Given the description of an element on the screen output the (x, y) to click on. 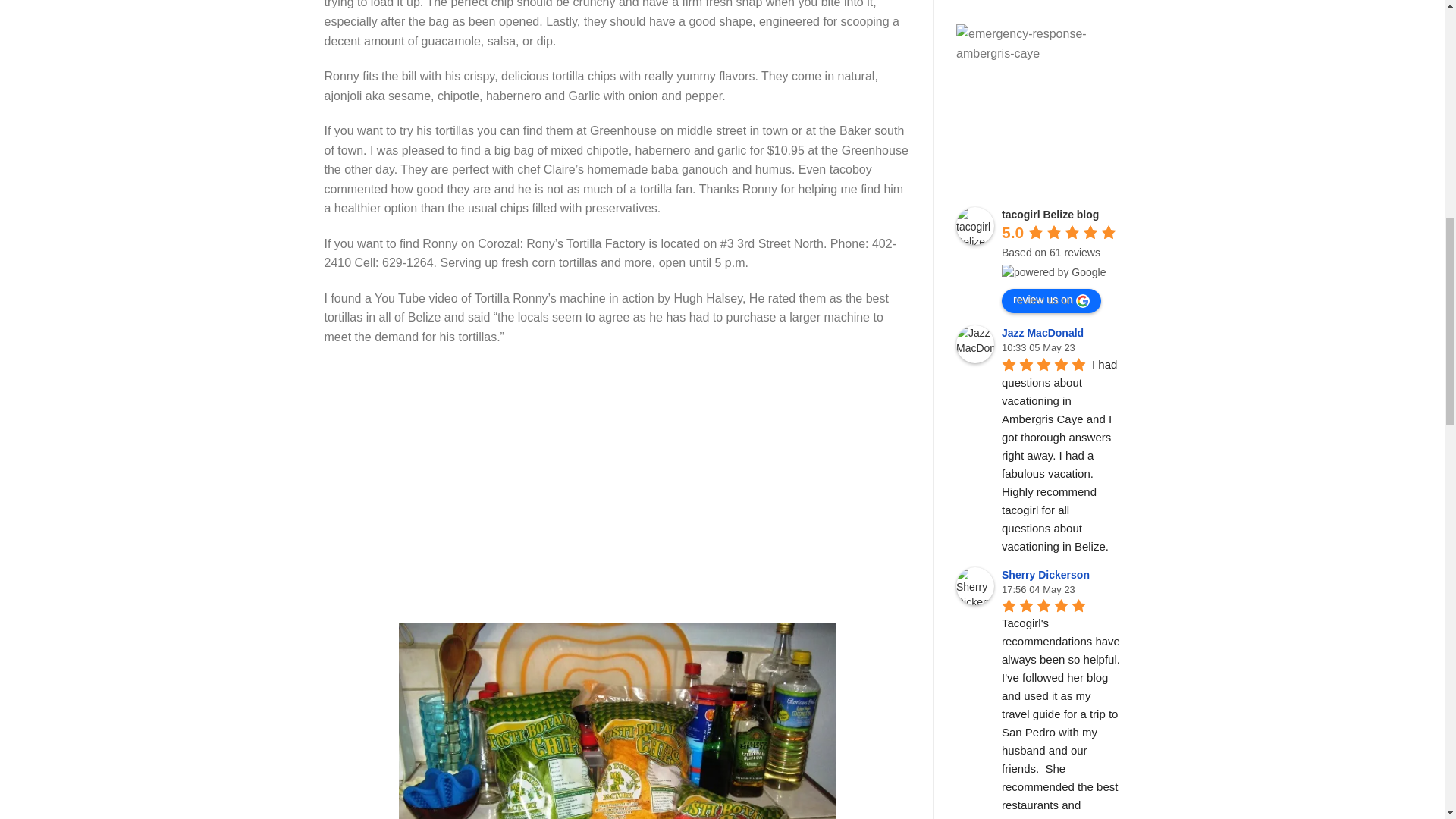
powered by Google (1053, 272)
Sherry Dickerson (975, 586)
tacogirl Belize blog (975, 225)
Jazz MacDonald (975, 344)
My Corozal purchase of Ronny's Chips (616, 721)
